Given the description of an element on the screen output the (x, y) to click on. 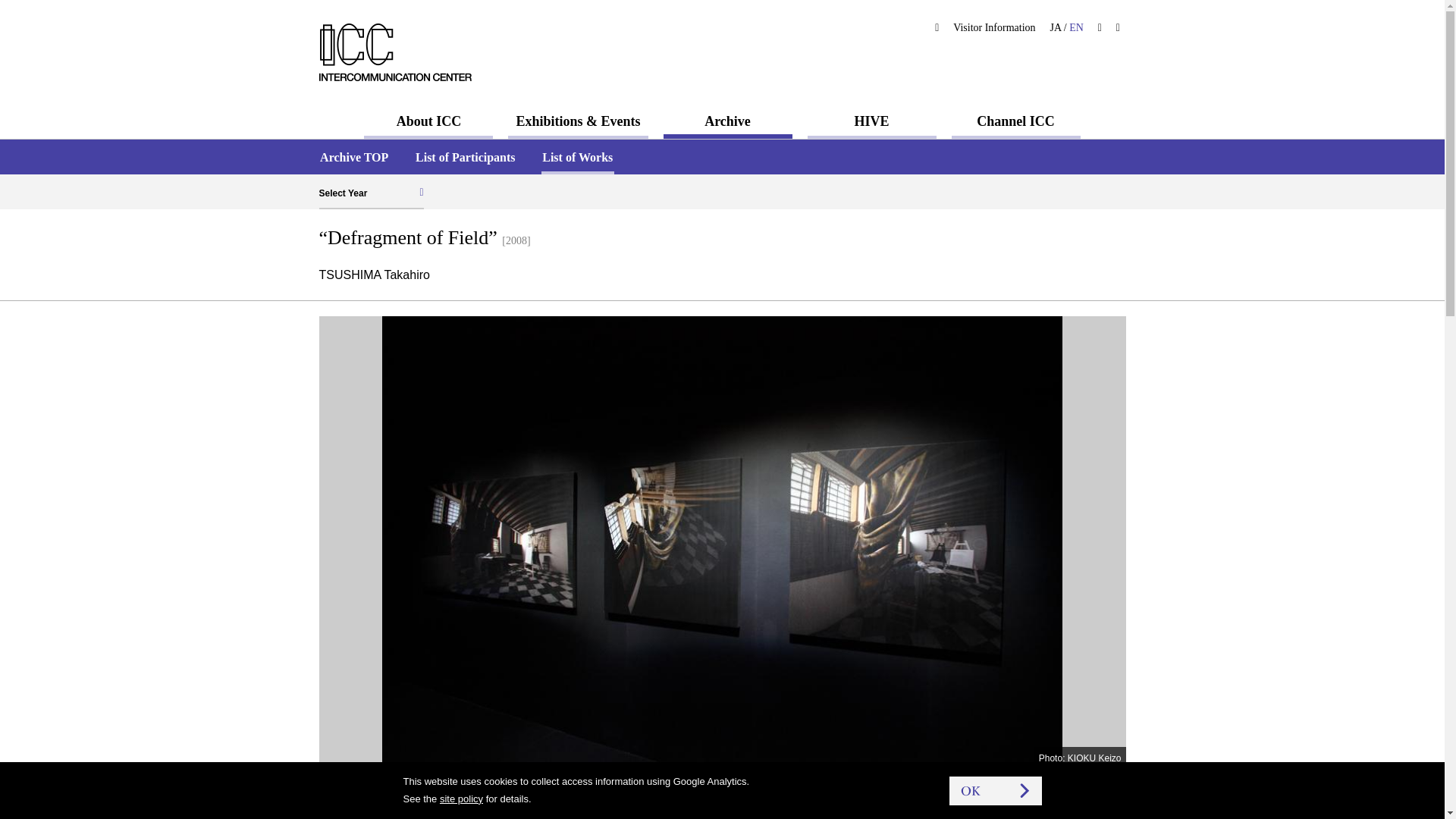
About ICC (428, 121)
Visitor Information (994, 27)
List of Works (577, 157)
HIVE (872, 121)
Archive (727, 121)
Channel ICC (1016, 121)
Archive TOP (353, 157)
List of Participants (464, 157)
